Given the description of an element on the screen output the (x, y) to click on. 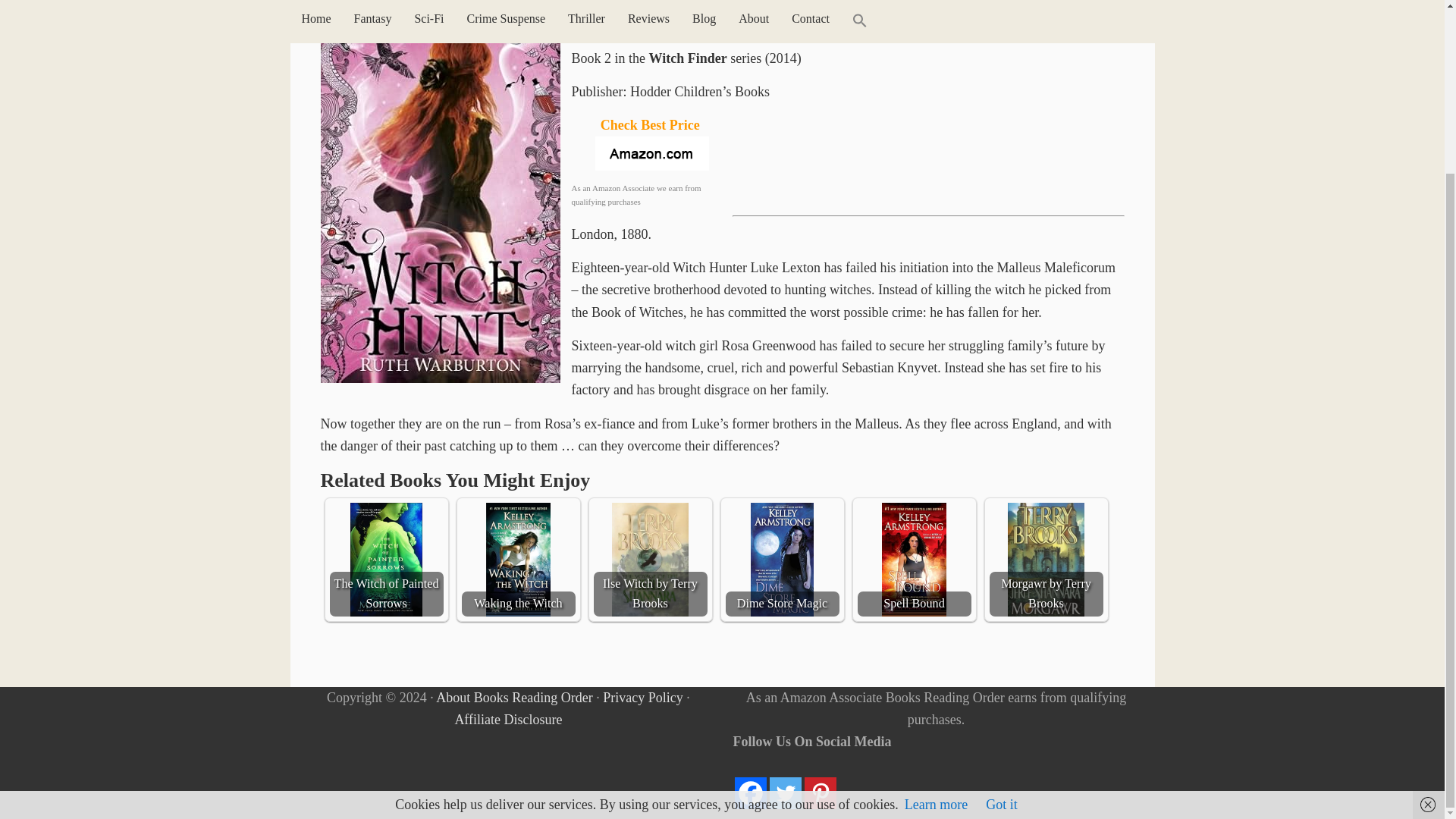
Got it (1001, 594)
Spell Bound (914, 559)
The Witch of Painted Sorrows (385, 559)
Morgawr by Terry Brooks (1045, 559)
Ilse Witch by Terry Brooks (649, 559)
Pinterest (820, 793)
Affiliate Disclosure (508, 719)
Waking the Witch (518, 559)
Ruth Ware (643, 26)
Twitter (786, 793)
About Books Reading Order (513, 696)
Dime Store Magic (781, 559)
Learn more (936, 594)
Facebook (751, 793)
Privacy Policy (642, 696)
